Given the description of an element on the screen output the (x, y) to click on. 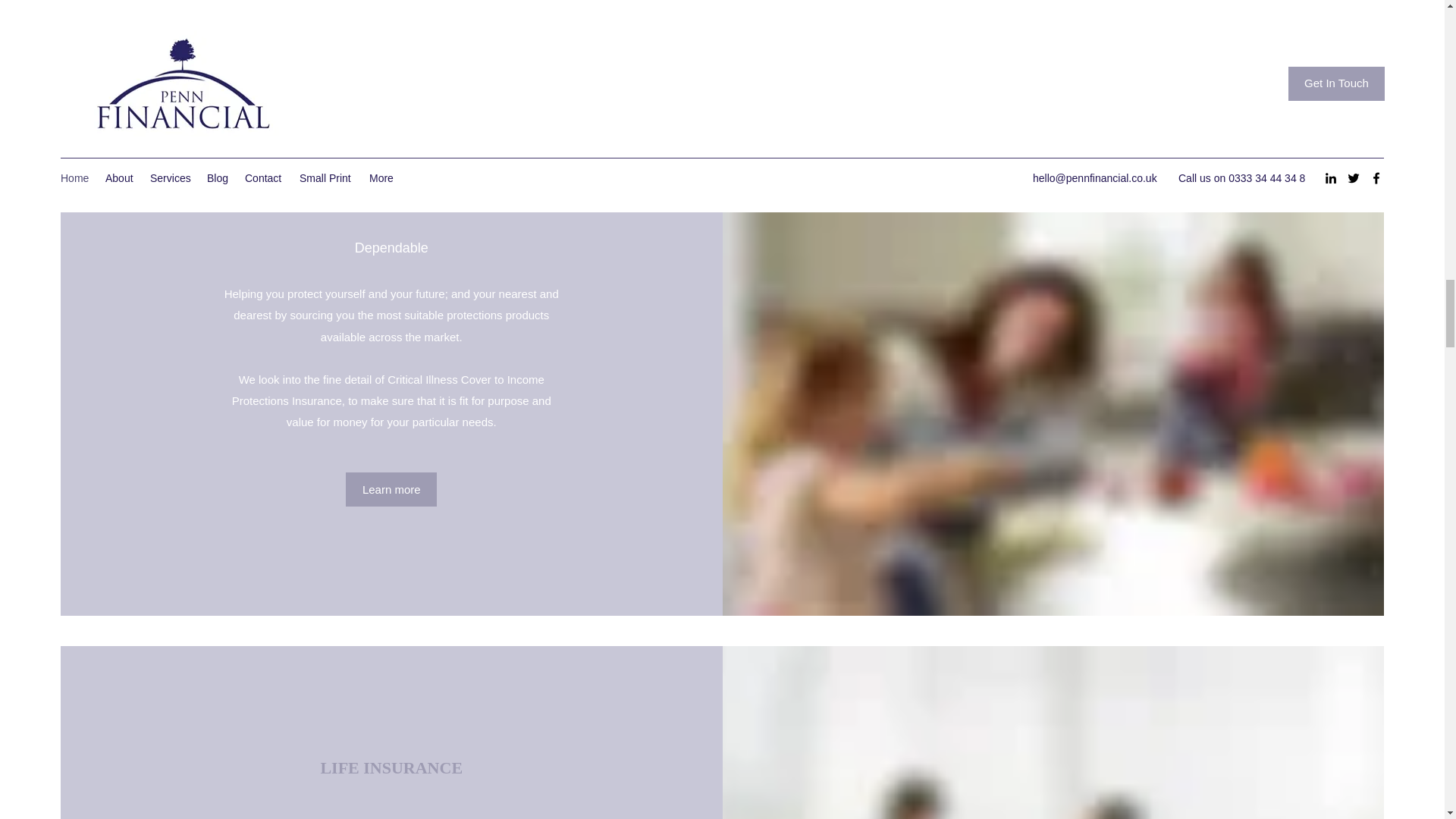
Learn more (391, 489)
